Given the description of an element on the screen output the (x, y) to click on. 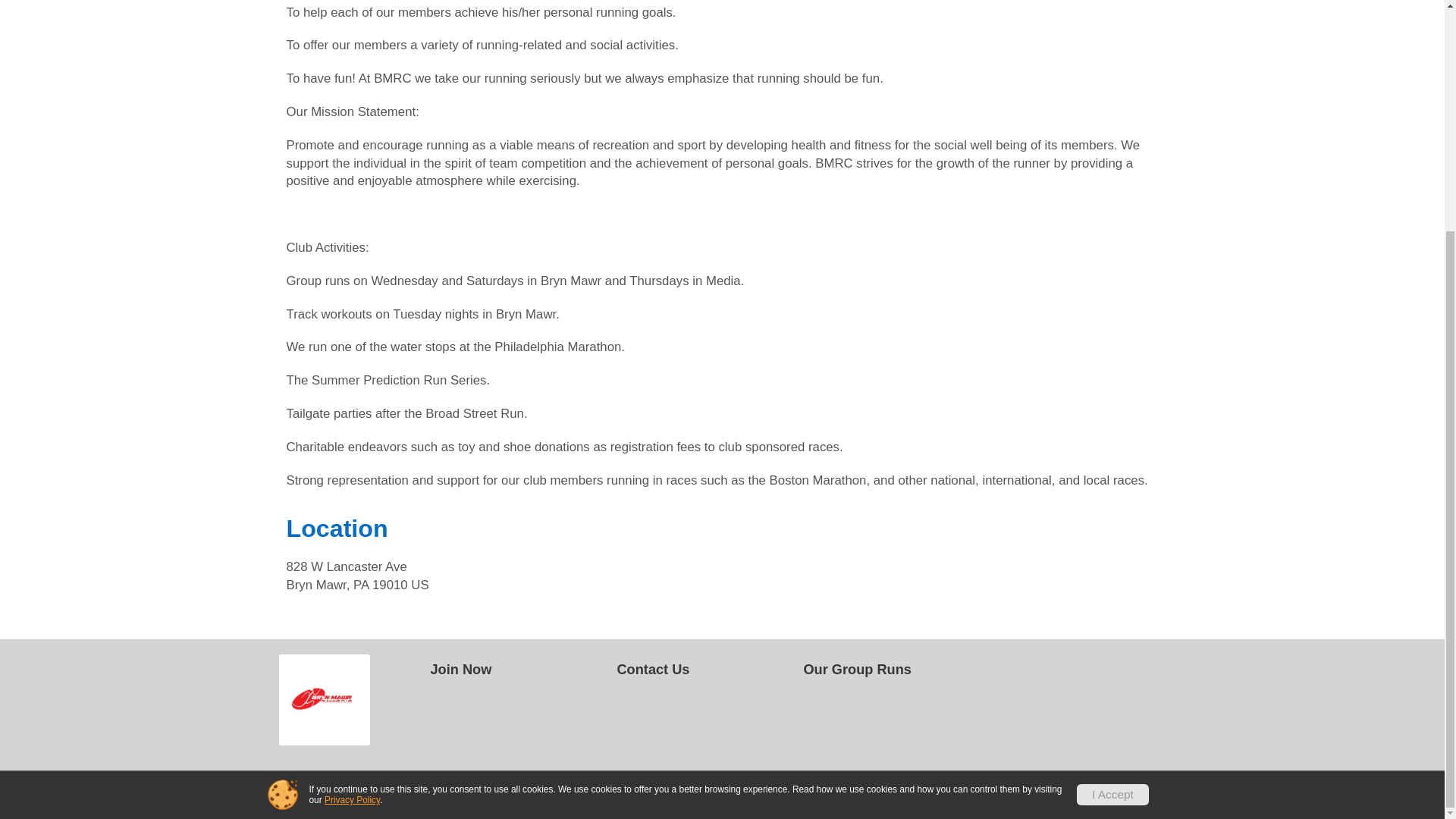
Privacy Policy (352, 487)
Join Now (518, 669)
Our Group Runs (890, 669)
I Accept (1112, 482)
Contact Us (703, 669)
